Given the description of an element on the screen output the (x, y) to click on. 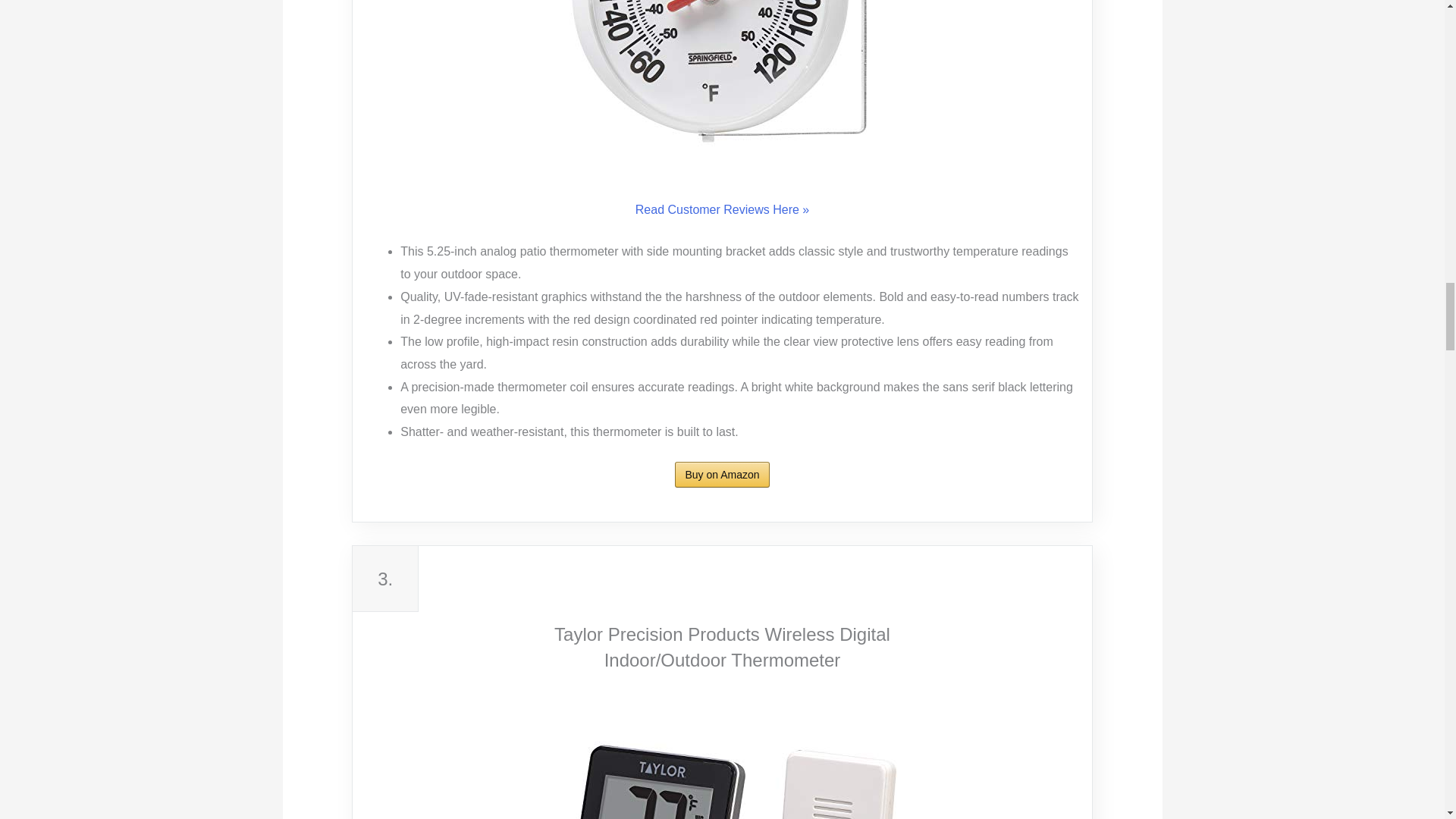
Buy on Amazon (721, 474)
Buy on Amazon (721, 474)
Read Customer Reviews Here (721, 210)
